Given the description of an element on the screen output the (x, y) to click on. 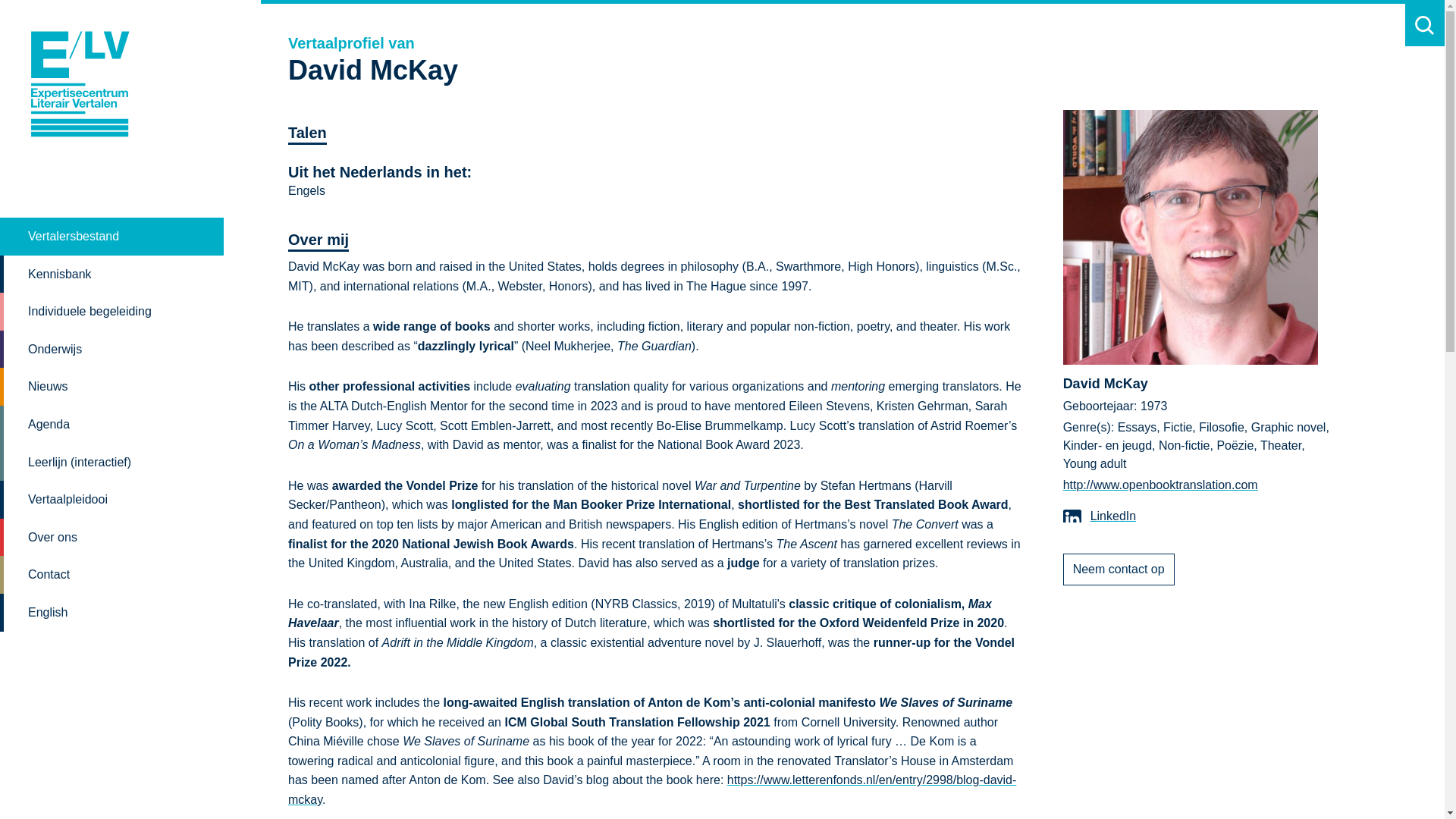
English (112, 612)
Vertaalpleidooi II 'verTALEN voor de toekomst' (112, 499)
LinkedIn (1099, 515)
Over ons (112, 537)
Vertalersbestand (112, 236)
Individuele begeleiding (112, 311)
Nieuws (112, 386)
Neem contact op (1118, 569)
Contact (112, 574)
Kennisbank (112, 274)
Agenda (112, 424)
Onderwijs (112, 349)
Vertaalpleidooi (112, 499)
